Given the description of an element on the screen output the (x, y) to click on. 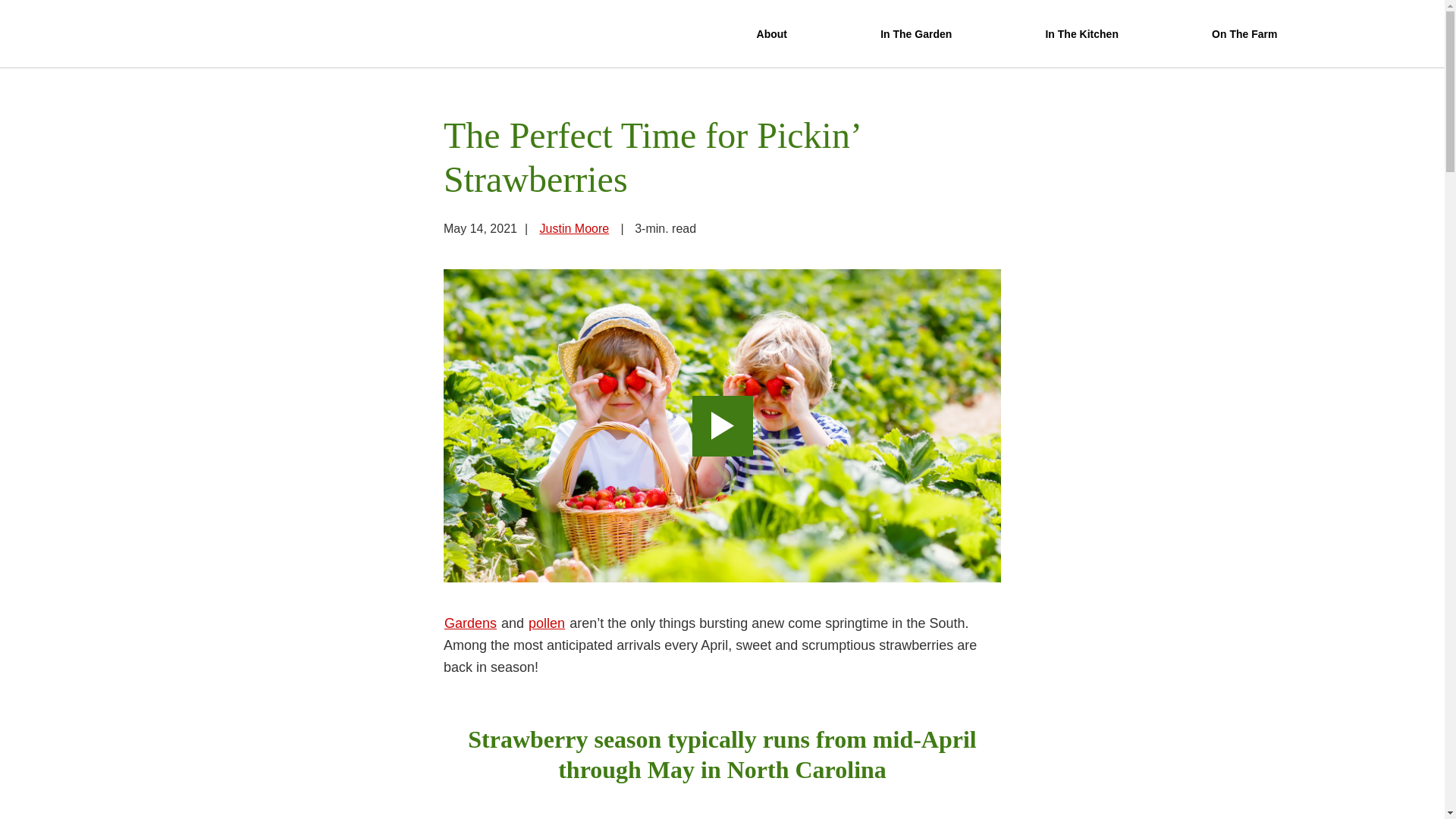
Posts by Justin Moore (574, 228)
NC State Extension Homegrown (461, 33)
In The Garden (915, 34)
On The Farm (1244, 34)
pollen (546, 622)
About (771, 34)
Justin Moore (574, 228)
Gardens (470, 622)
In The Kitchen (1081, 34)
